Given the description of an element on the screen output the (x, y) to click on. 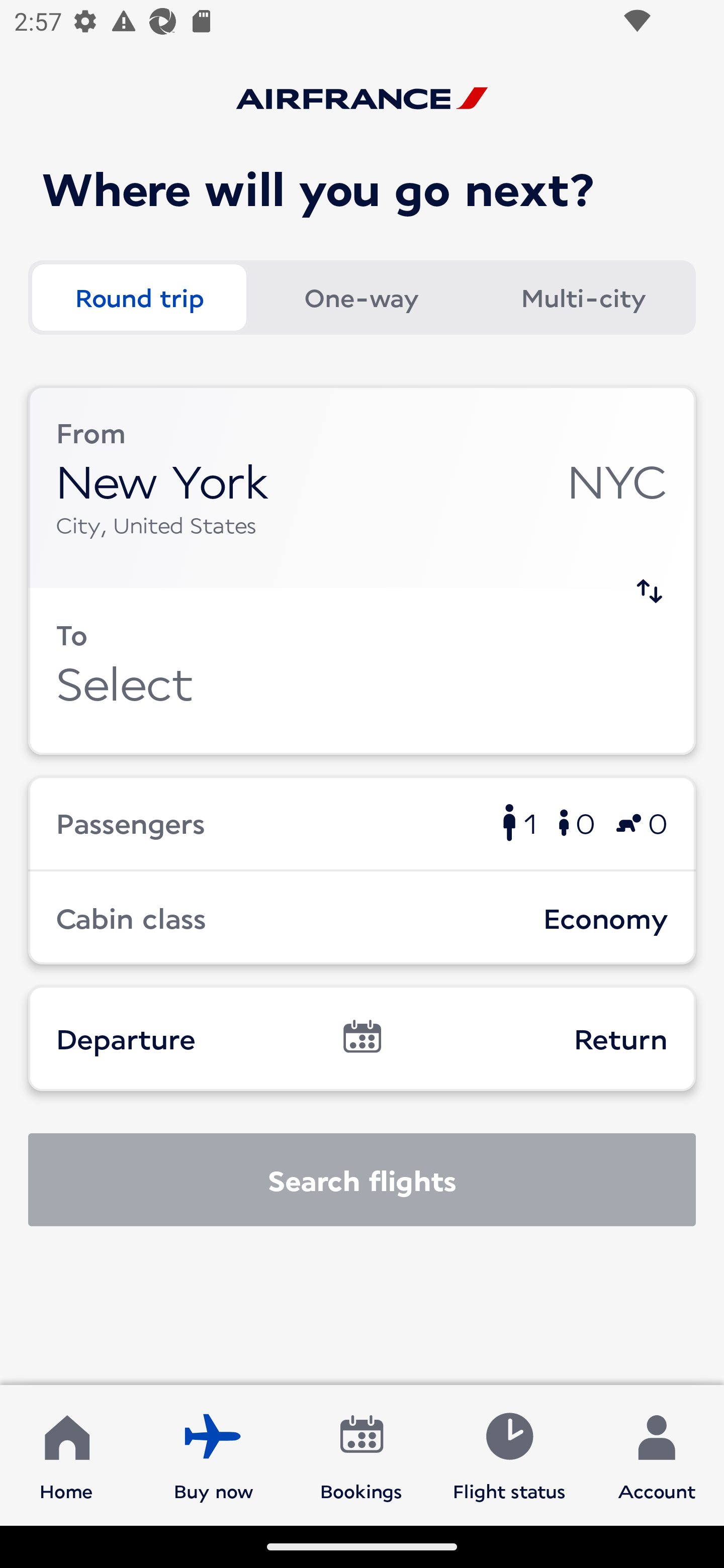
Round trip (139, 297)
One-way (361, 297)
Multi-city (583, 297)
From New York NYC City, United States (361, 486)
To Select (361, 671)
Passengers 1 0 0 (361, 822)
Cabin class Economy (361, 917)
Departure Return (361, 1038)
Search flights (361, 1179)
Home (66, 1454)
Bookings (361, 1454)
Flight status (509, 1454)
Account (657, 1454)
